Given the description of an element on the screen output the (x, y) to click on. 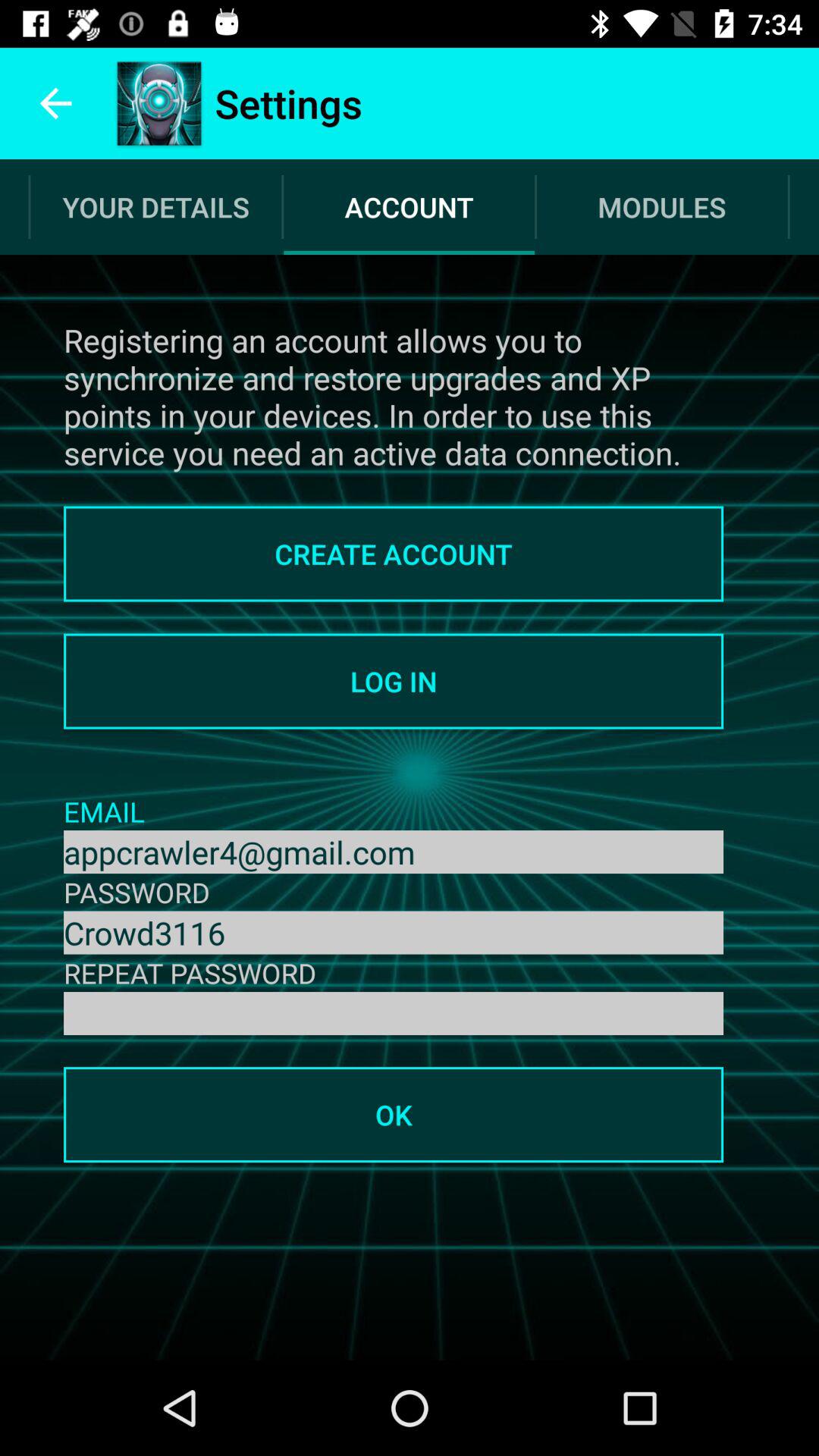
enter the password box (393, 1013)
